Given the description of an element on the screen output the (x, y) to click on. 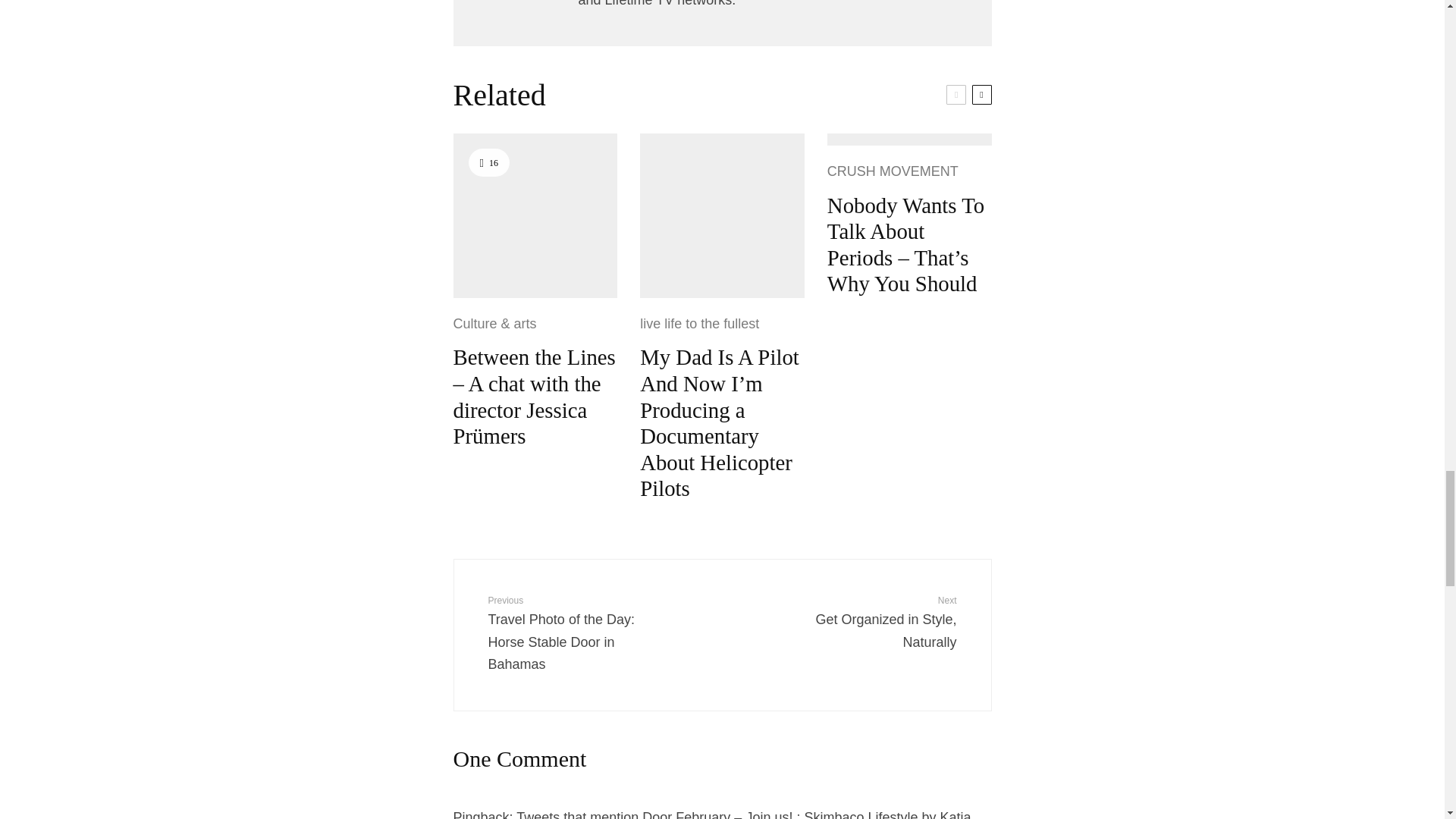
DSC09785 2 (534, 215)
